Given the description of an element on the screen output the (x, y) to click on. 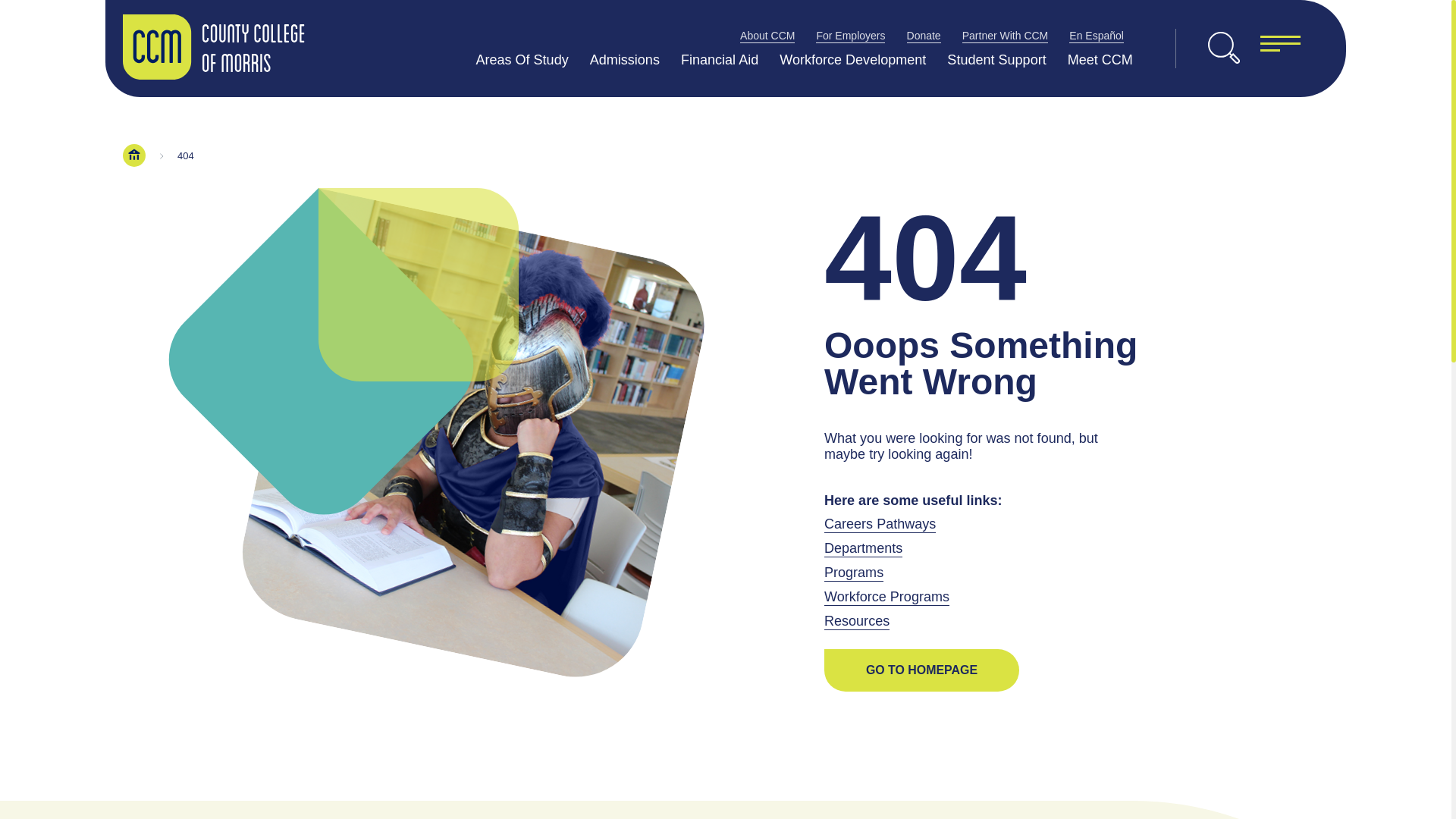
Areas Of Study (521, 59)
Donate (923, 35)
Workforce Development (852, 59)
Financial Aid (719, 59)
Partner With CCM (1005, 35)
About CCM (766, 35)
Admissions (624, 59)
For Employers (850, 35)
